Given the description of an element on the screen output the (x, y) to click on. 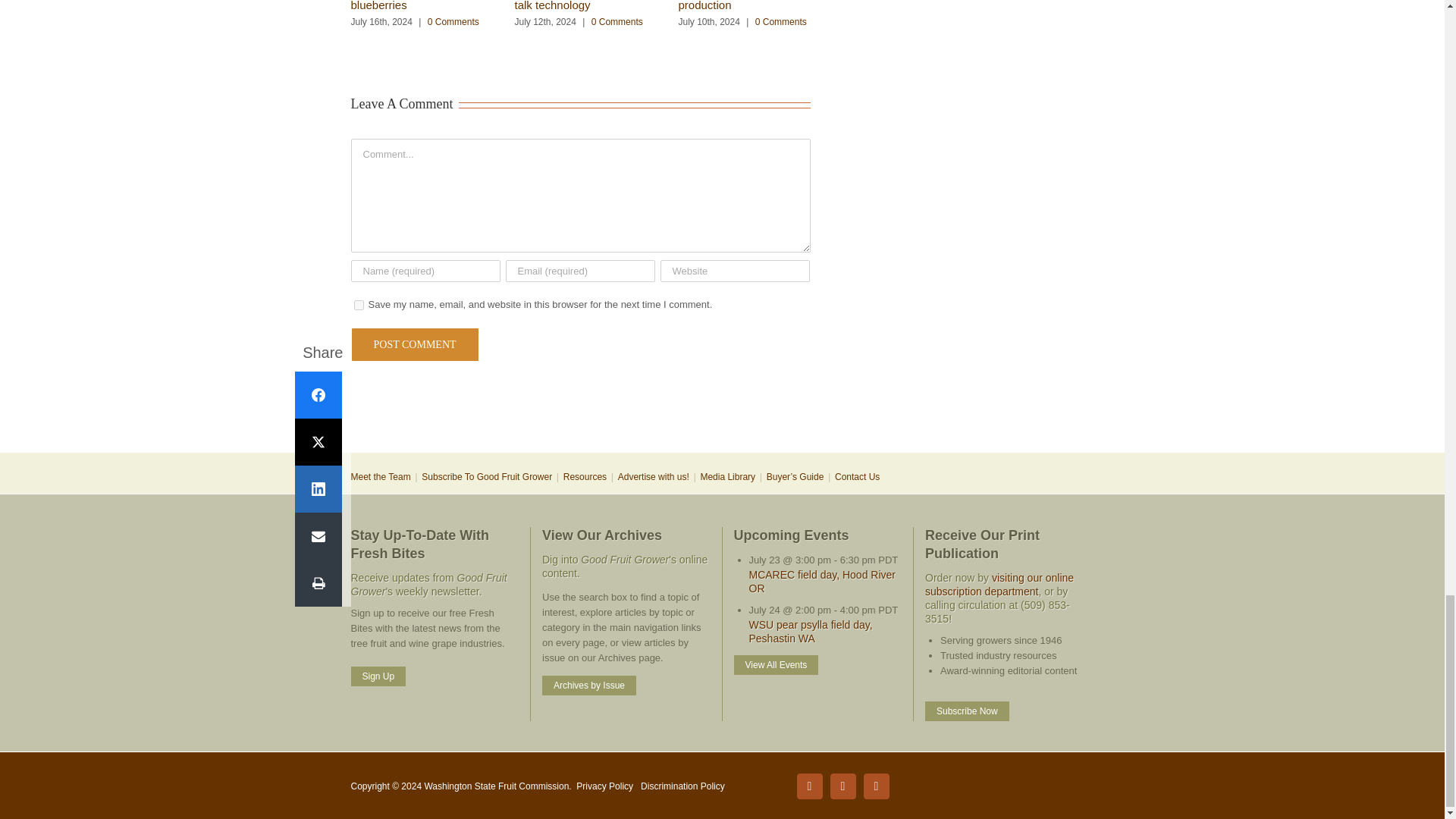
Michigan seeks tweaks to produce sweeter blueberries (415, 5)
yes (357, 305)
Post Comment (414, 344)
3rd party ad content (721, 402)
